Given the description of an element on the screen output the (x, y) to click on. 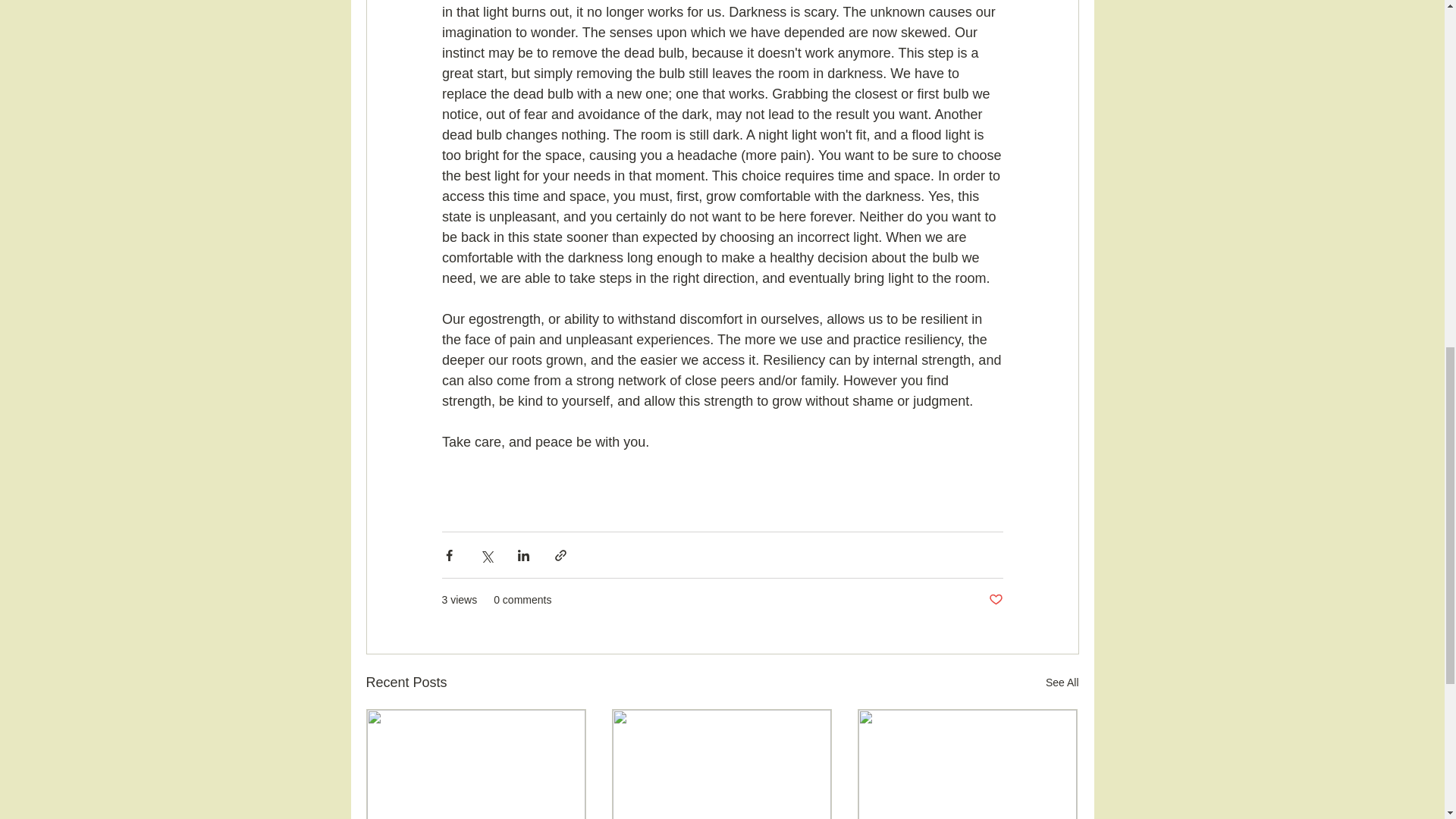
Post not marked as liked (995, 600)
